Given the description of an element on the screen output the (x, y) to click on. 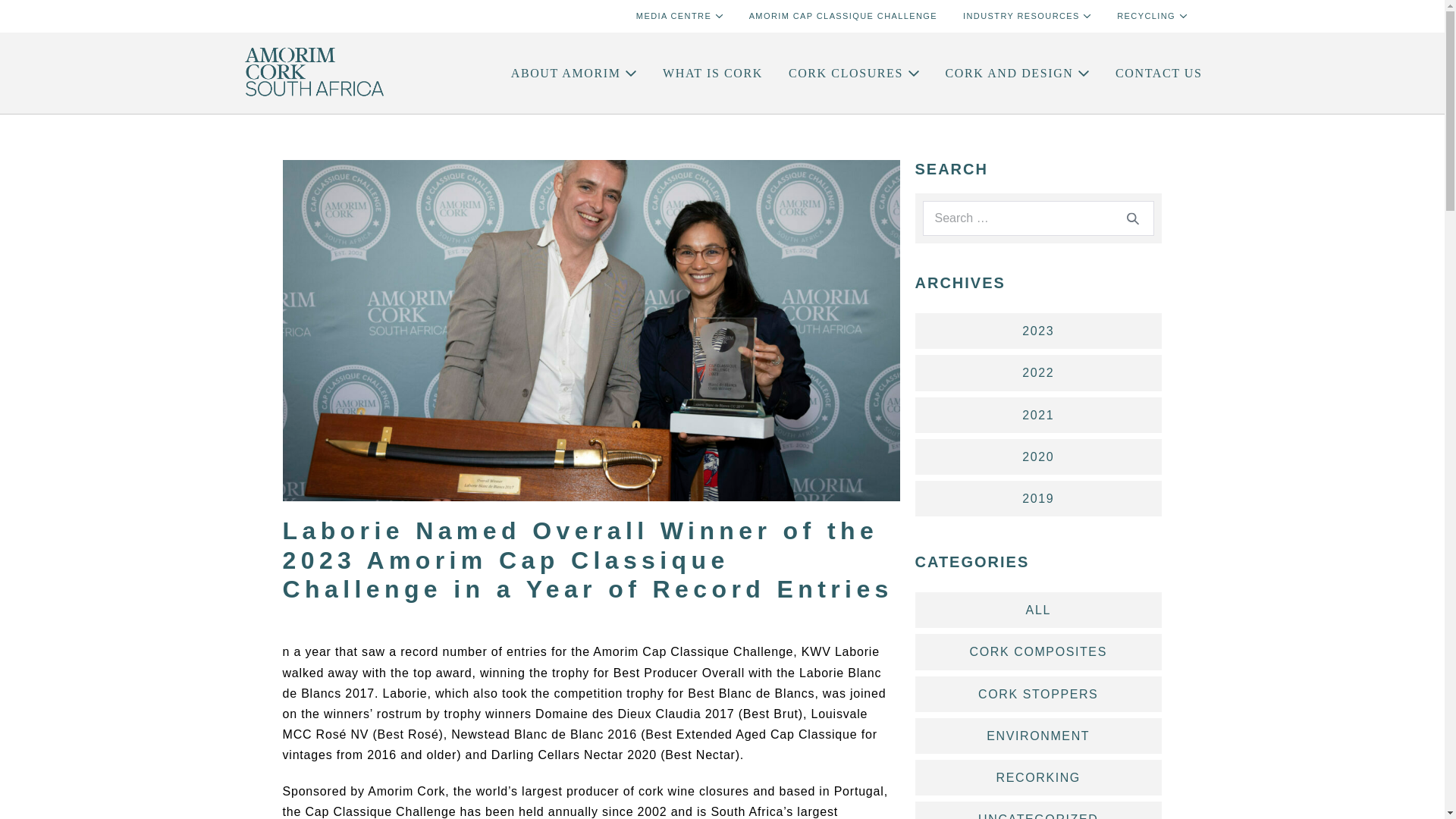
What is Cork (712, 72)
RECYCLING (1151, 16)
CONTACT US (1158, 72)
ABOUT AMORIM (573, 72)
AMORIM CAP CLASSIQUE CHALLENGE (843, 16)
WHAT IS CORK (712, 72)
Press enter to search (1037, 217)
MEDIA CENTRE (679, 16)
Cork and Design (1018, 72)
About Amorim (573, 72)
CORK AND DESIGN (1018, 72)
INDUSTRY RESOURCES (1026, 16)
Contact us (1158, 72)
Amorim Cork (312, 73)
CORK CLOSURES (854, 72)
